Given the description of an element on the screen output the (x, y) to click on. 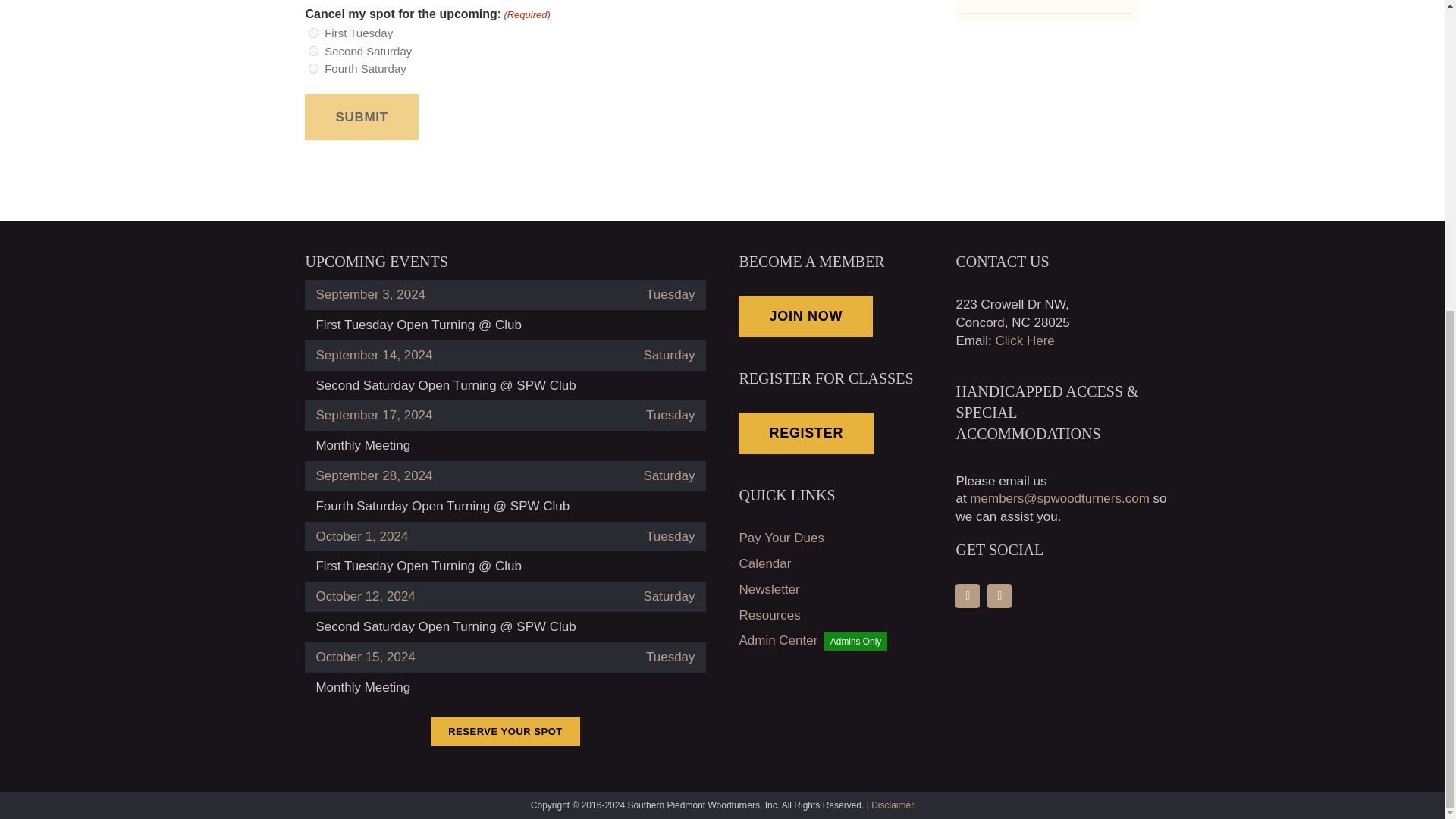
Submit (360, 117)
Fourth Saturday (313, 68)
Second Saturday (313, 50)
First Tuesday (313, 32)
